Given the description of an element on the screen output the (x, y) to click on. 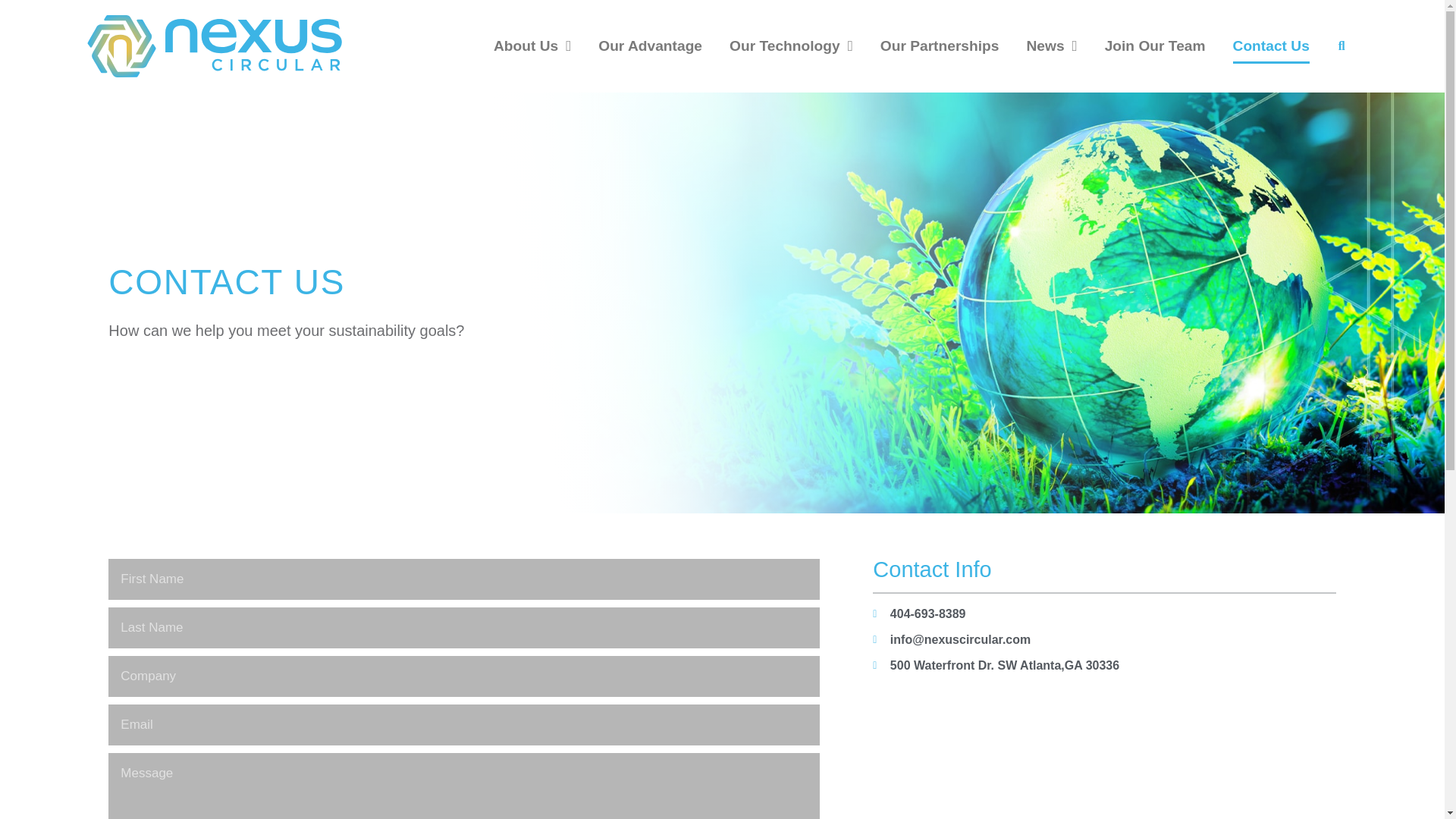
News (1051, 45)
Our Partnerships (939, 45)
Our Technology (791, 45)
500 Waterfront Dr. SW Atlanta,GA 30336 (1103, 754)
Our Advantage (649, 45)
Contact Us (1270, 45)
About Us (531, 45)
Join Our Team (1155, 45)
